Given the description of an element on the screen output the (x, y) to click on. 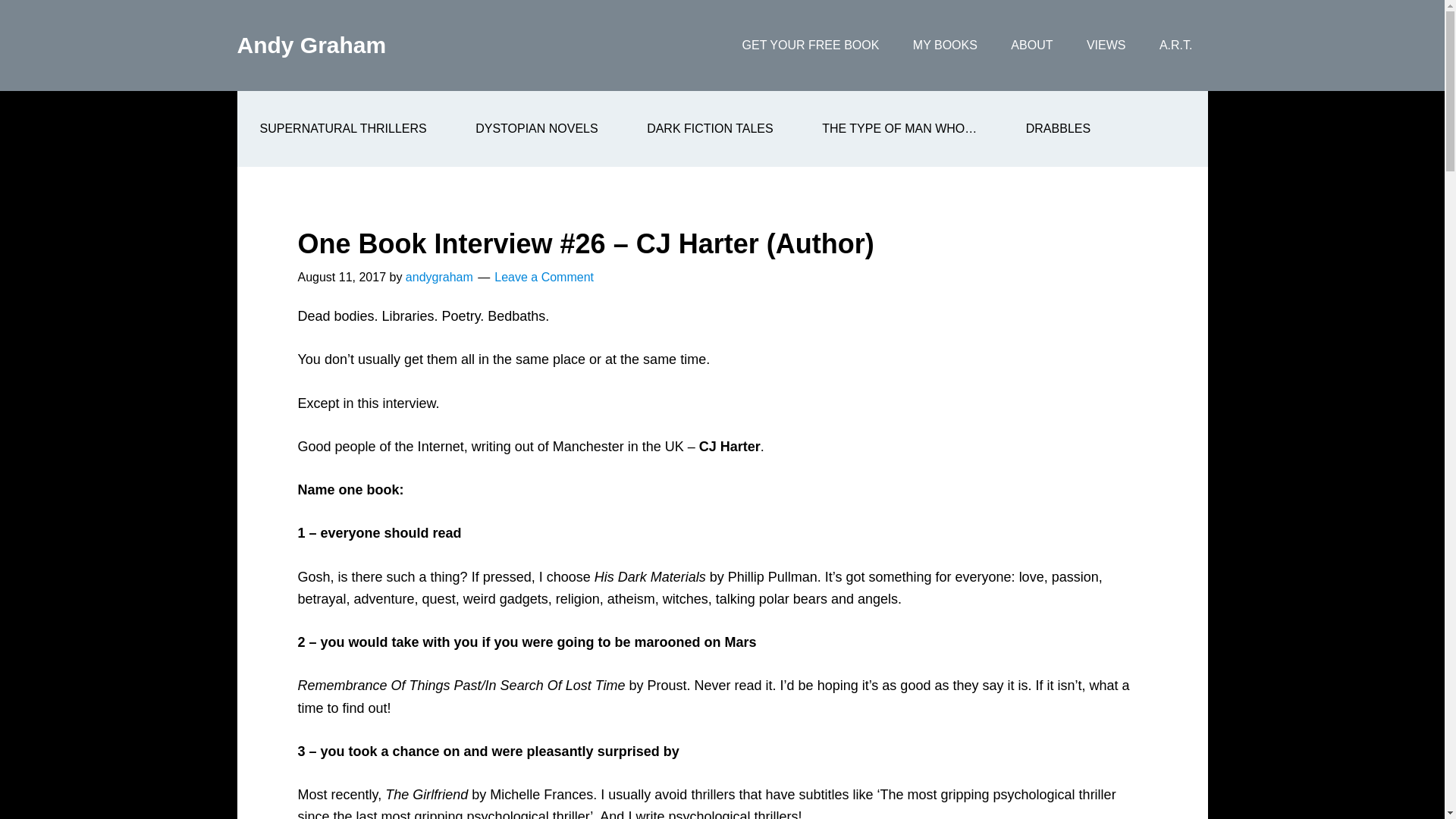
DARK FICTION TALES (710, 128)
ABOUT (1031, 45)
VIEWS (1106, 45)
Andy Graham (310, 44)
DRABBLES (1058, 128)
MY BOOKS (945, 45)
Leave a Comment (544, 277)
A.R.T. (1176, 45)
GET YOUR FREE BOOK (810, 45)
SUPERNATURAL THRILLERS (341, 128)
andygraham (439, 277)
DYSTOPIAN NOVELS (536, 128)
